Given the description of an element on the screen output the (x, y) to click on. 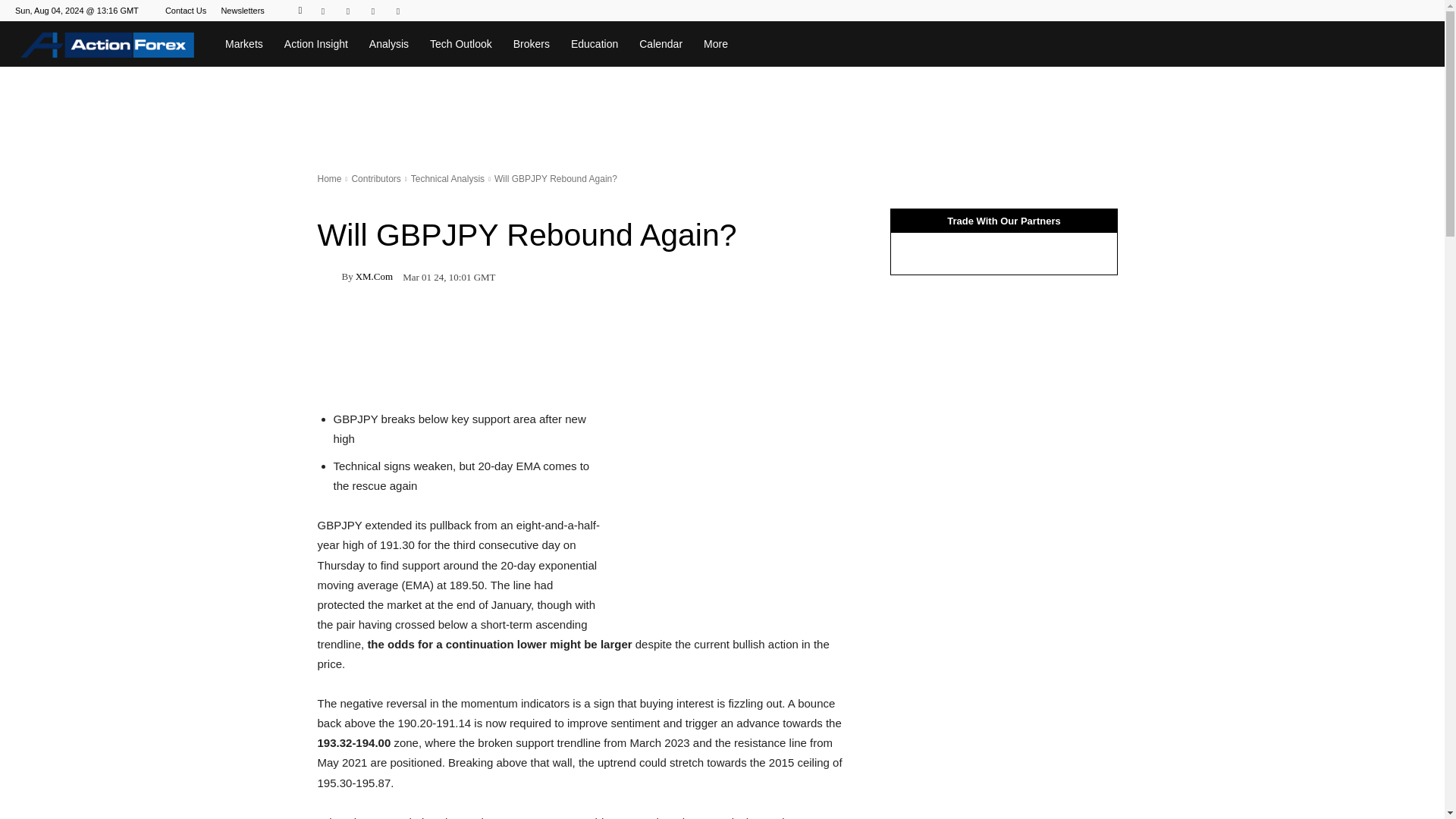
Action Forex (106, 44)
Facebook (322, 10)
RSS (372, 10)
Twitter (398, 10)
Mail (347, 10)
